Given the description of an element on the screen output the (x, y) to click on. 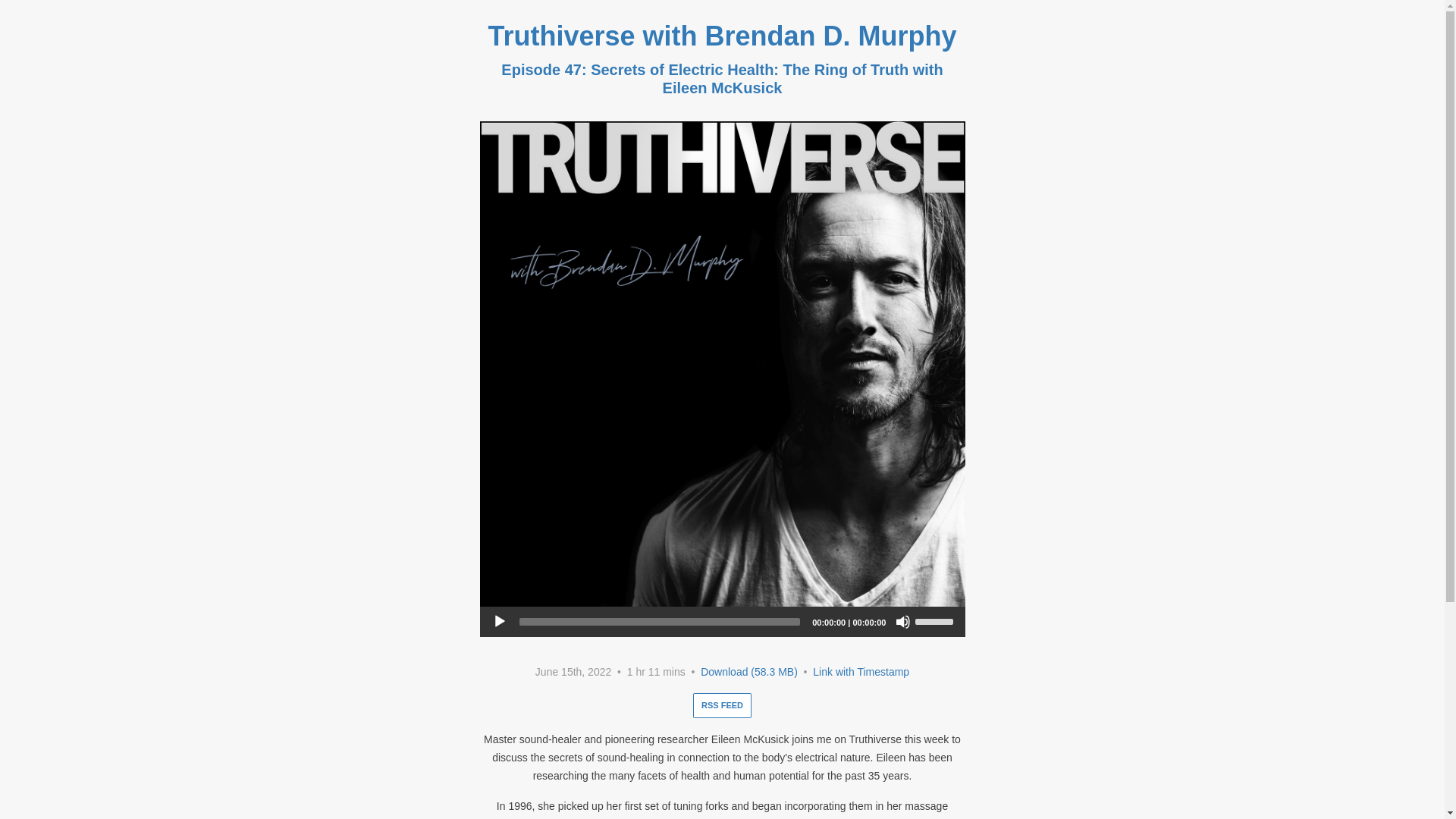
Play (499, 621)
RSS FEED (722, 705)
Mute (902, 621)
Truthiverse with Brendan D. Murphy (721, 35)
Link with Timestamp (860, 671)
